Given the description of an element on the screen output the (x, y) to click on. 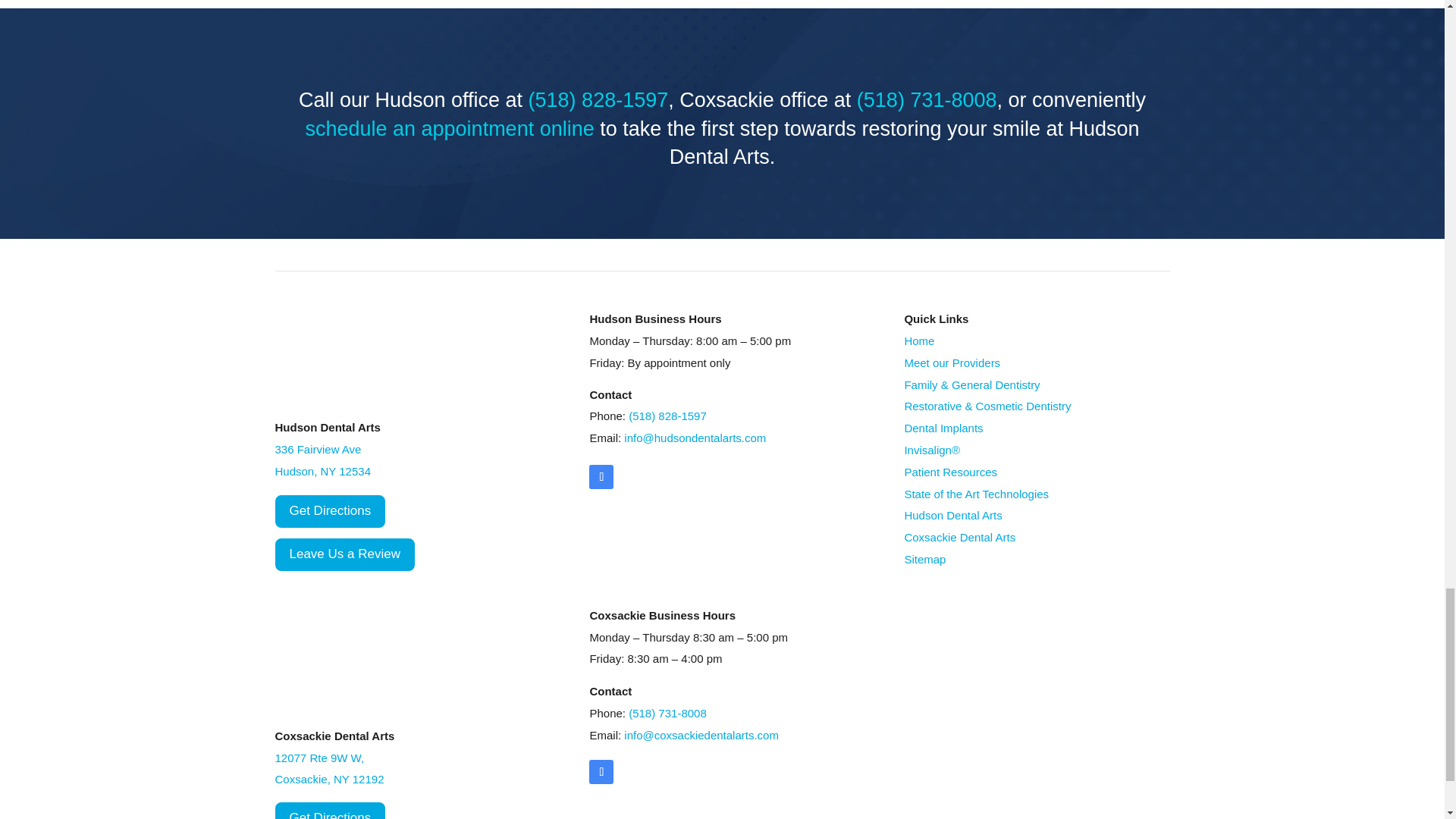
Follow on Google (600, 476)
Follow on Google (600, 771)
